Given the description of an element on the screen output the (x, y) to click on. 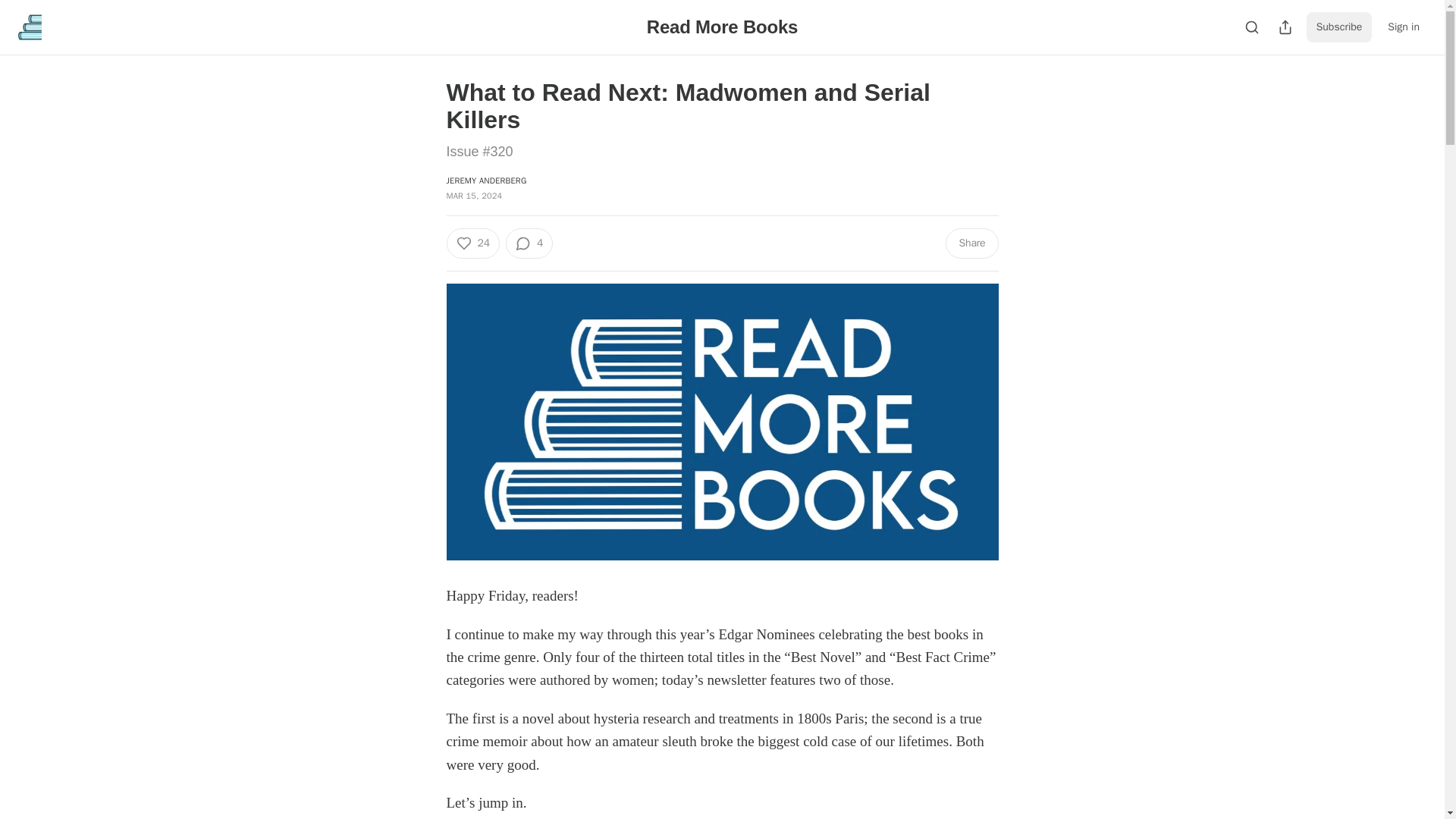
Read More Books (721, 26)
4 (529, 243)
Subscribe (1339, 27)
Sign in (1403, 27)
Share (970, 243)
JEREMY ANDERBERG (485, 180)
24 (472, 243)
